Given the description of an element on the screen output the (x, y) to click on. 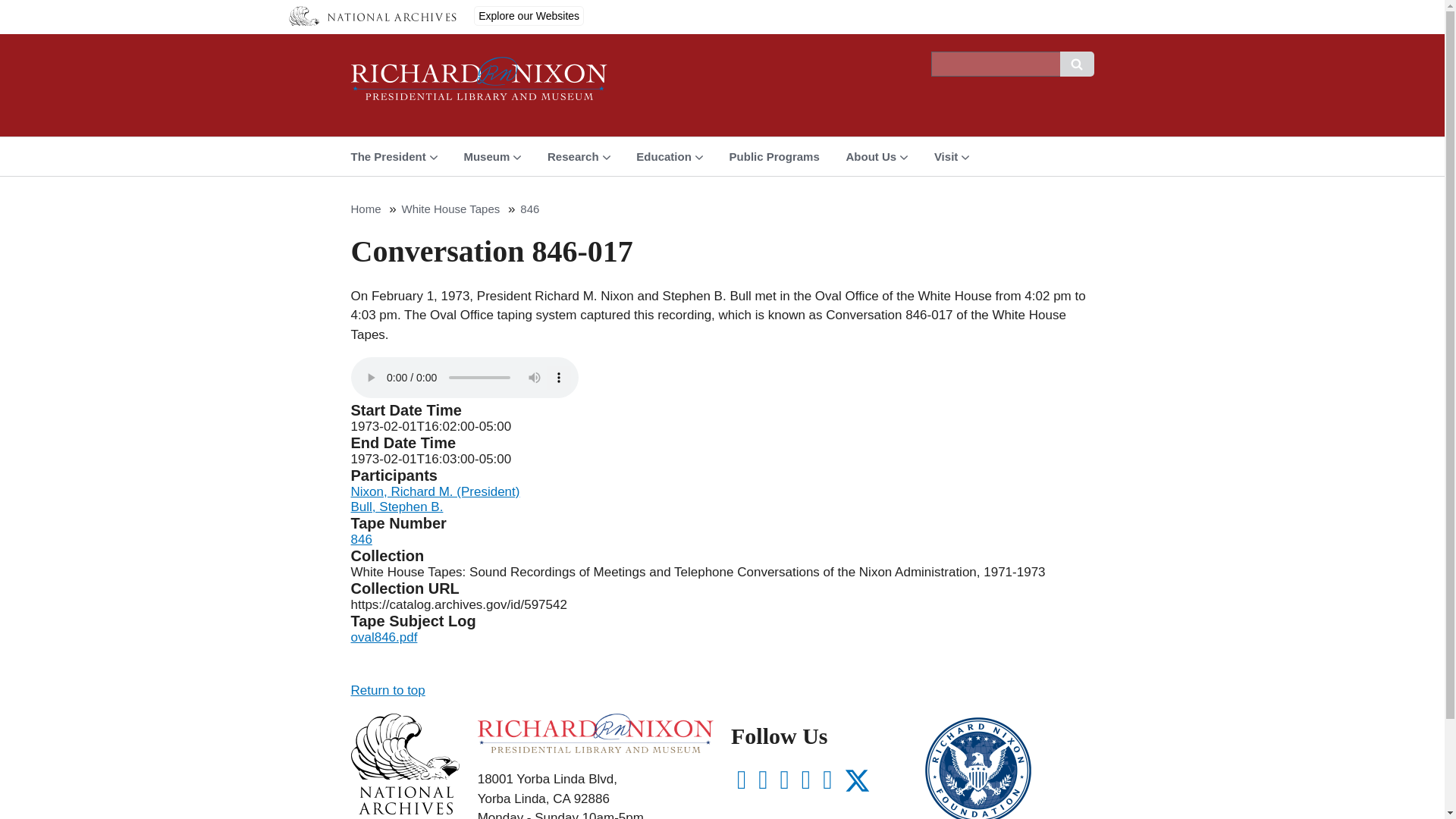
Home (478, 84)
Explore our Websites (528, 15)
Enter the terms you wish to search for. (995, 63)
Richard Nixon Library and Museum Logo Color (595, 732)
National Archives Logo (404, 810)
